Given the description of an element on the screen output the (x, y) to click on. 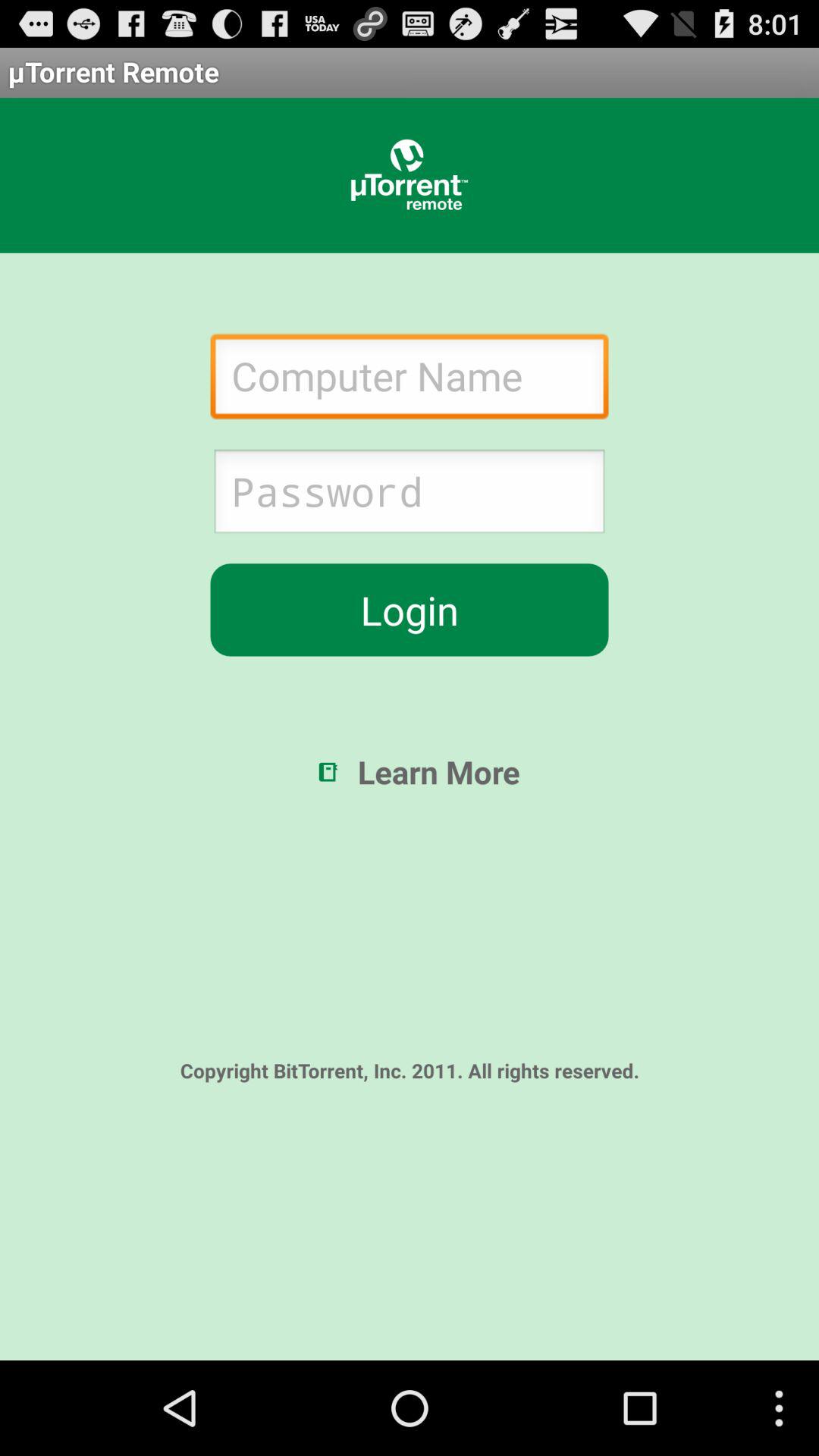
scroll to the login button (409, 609)
